Given the description of an element on the screen output the (x, y) to click on. 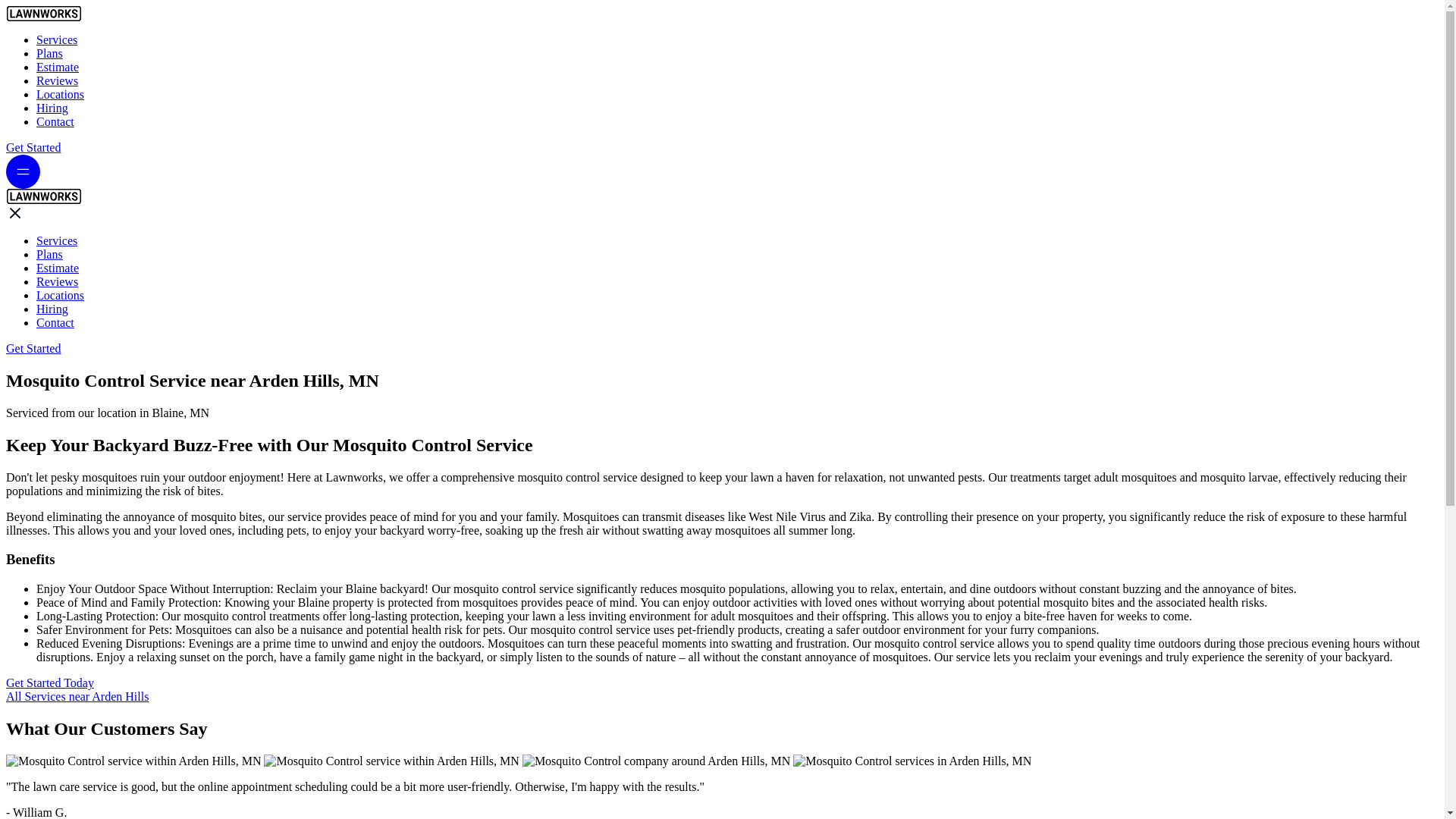
Services (56, 39)
Hiring (52, 107)
Contact (55, 121)
Reviews (57, 281)
All Services near Arden Hills (76, 696)
Plans (49, 52)
Services (56, 240)
Reviews (57, 80)
Contact (55, 322)
Locations (60, 295)
Get Started Today (49, 682)
Get Started (33, 146)
Hiring (52, 308)
Locations (60, 93)
Estimate (57, 267)
